Given the description of an element on the screen output the (x, y) to click on. 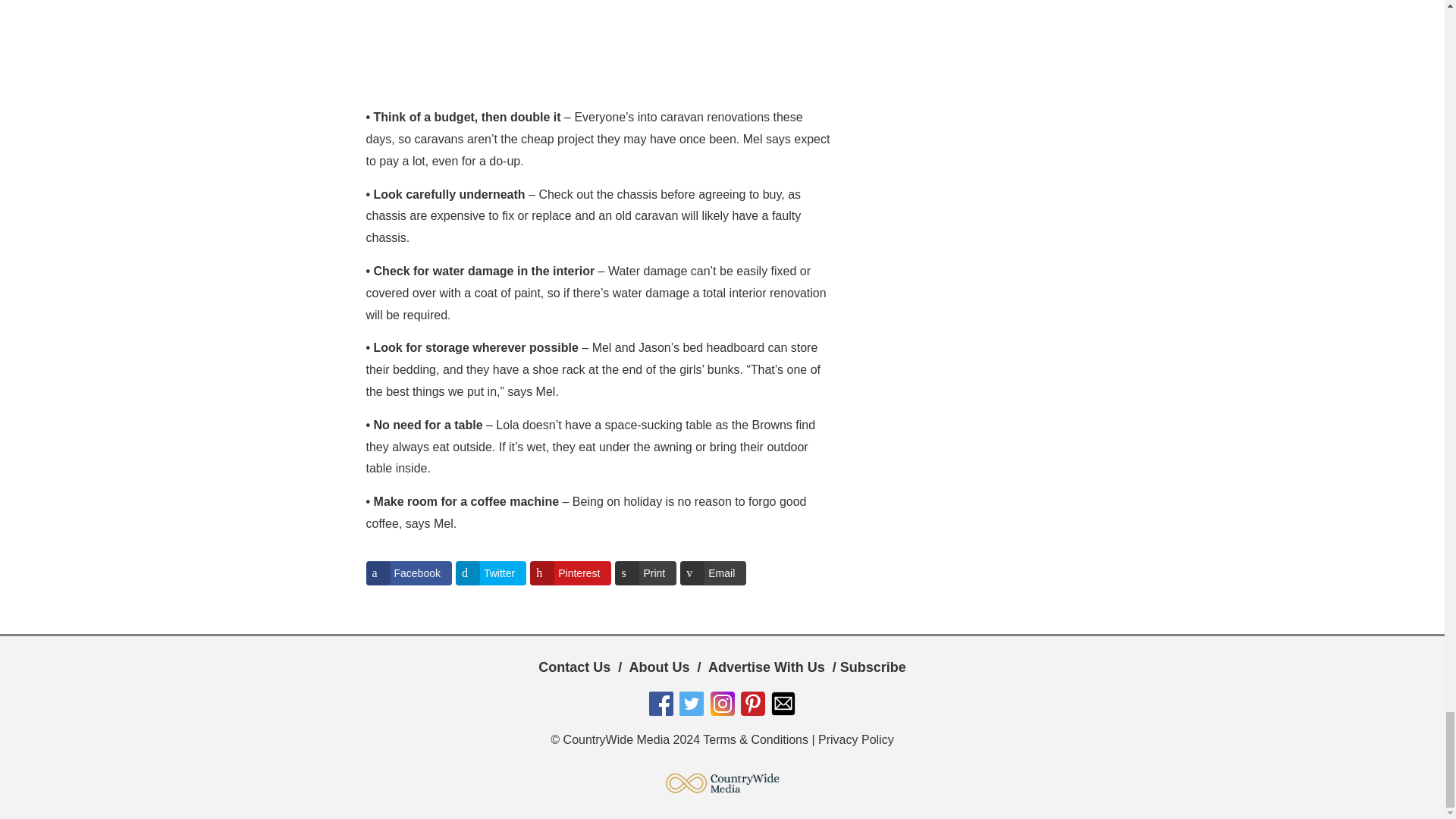
Share on Facebook (408, 573)
Share on Pinterest (570, 573)
Share on Email (712, 573)
Facebook (408, 573)
Share on Print (645, 573)
Share on Twitter (490, 573)
Print (645, 573)
Email (712, 573)
Pinterest (570, 573)
Twitter (490, 573)
